Given the description of an element on the screen output the (x, y) to click on. 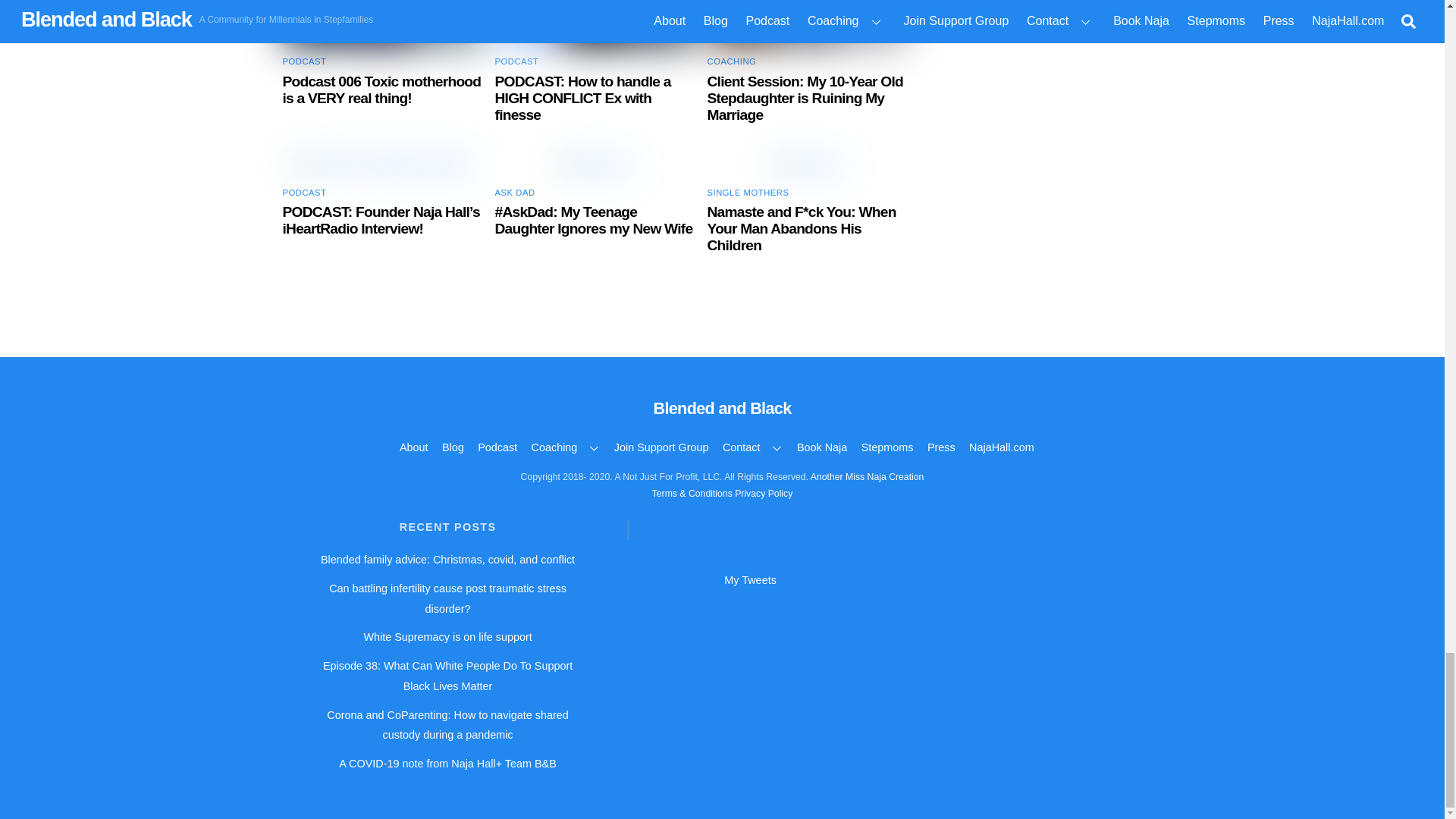
PODCAST (304, 61)
PODCAST (516, 61)
Podcast 006 Toxic motherhood is a VERY real thing! (381, 89)
